Given the description of an element on the screen output the (x, y) to click on. 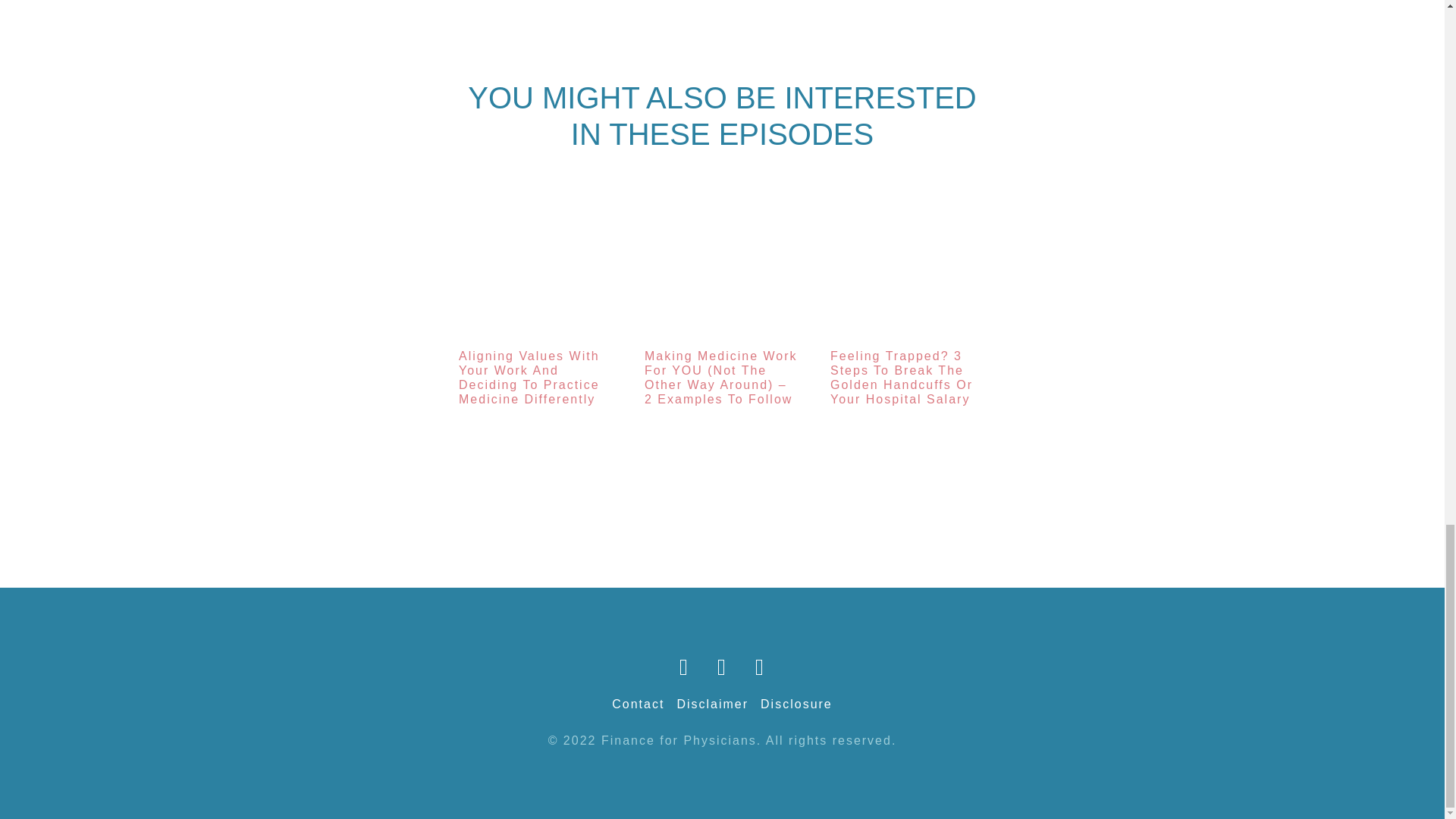
Disclaimer (712, 703)
Youtube (760, 667)
Facebook (683, 667)
Twitter (722, 667)
Disclosure (796, 703)
Contact (637, 703)
